Given the description of an element on the screen output the (x, y) to click on. 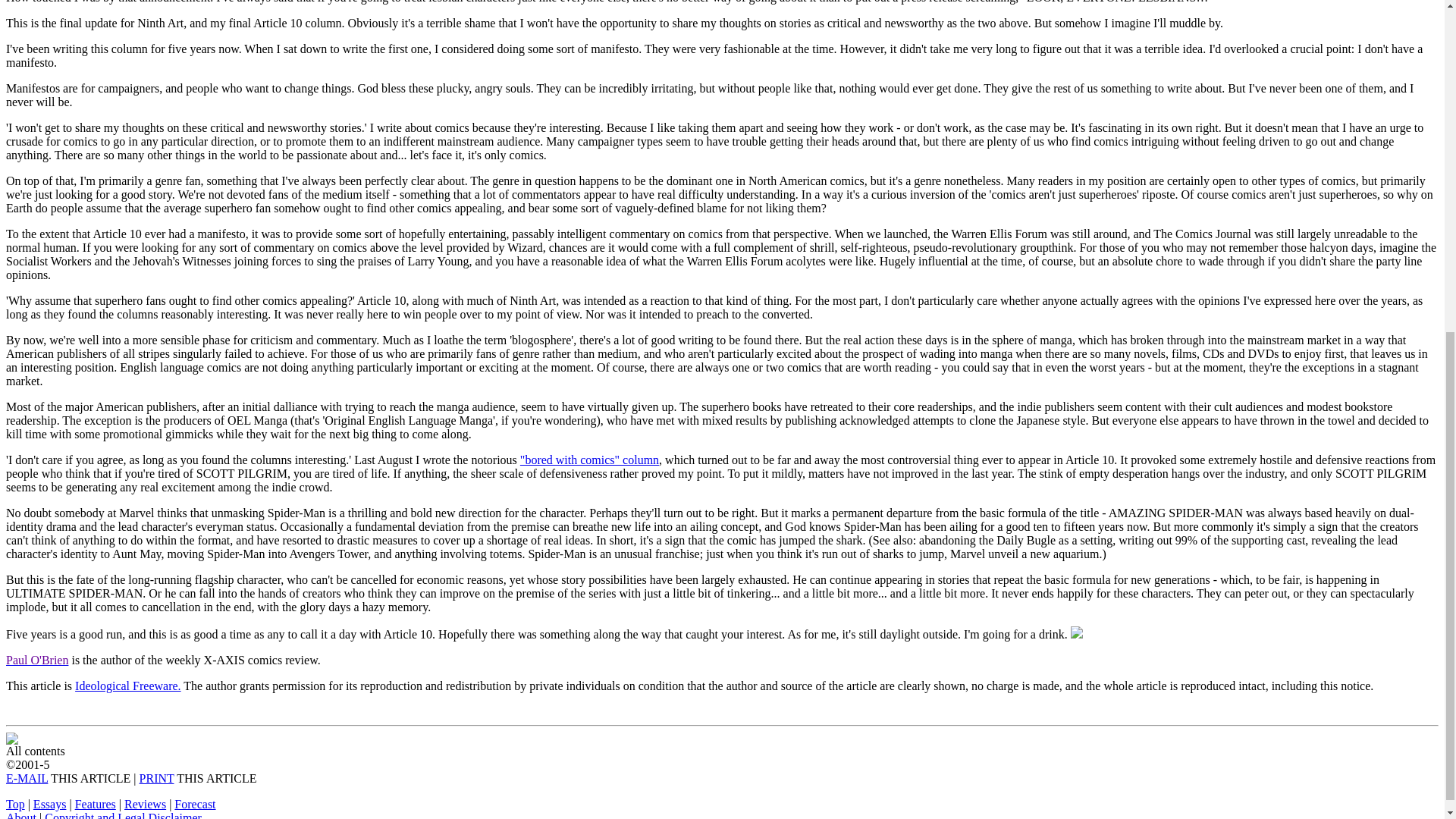
E-MAIL (26, 778)
Features (95, 803)
Reviews (144, 803)
Ideological Freeware. (127, 685)
Top (14, 803)
Forecast (194, 803)
Essays (49, 803)
"bored with comics" column (589, 459)
PRINT (156, 778)
Paul O'Brien (36, 659)
